Given the description of an element on the screen output the (x, y) to click on. 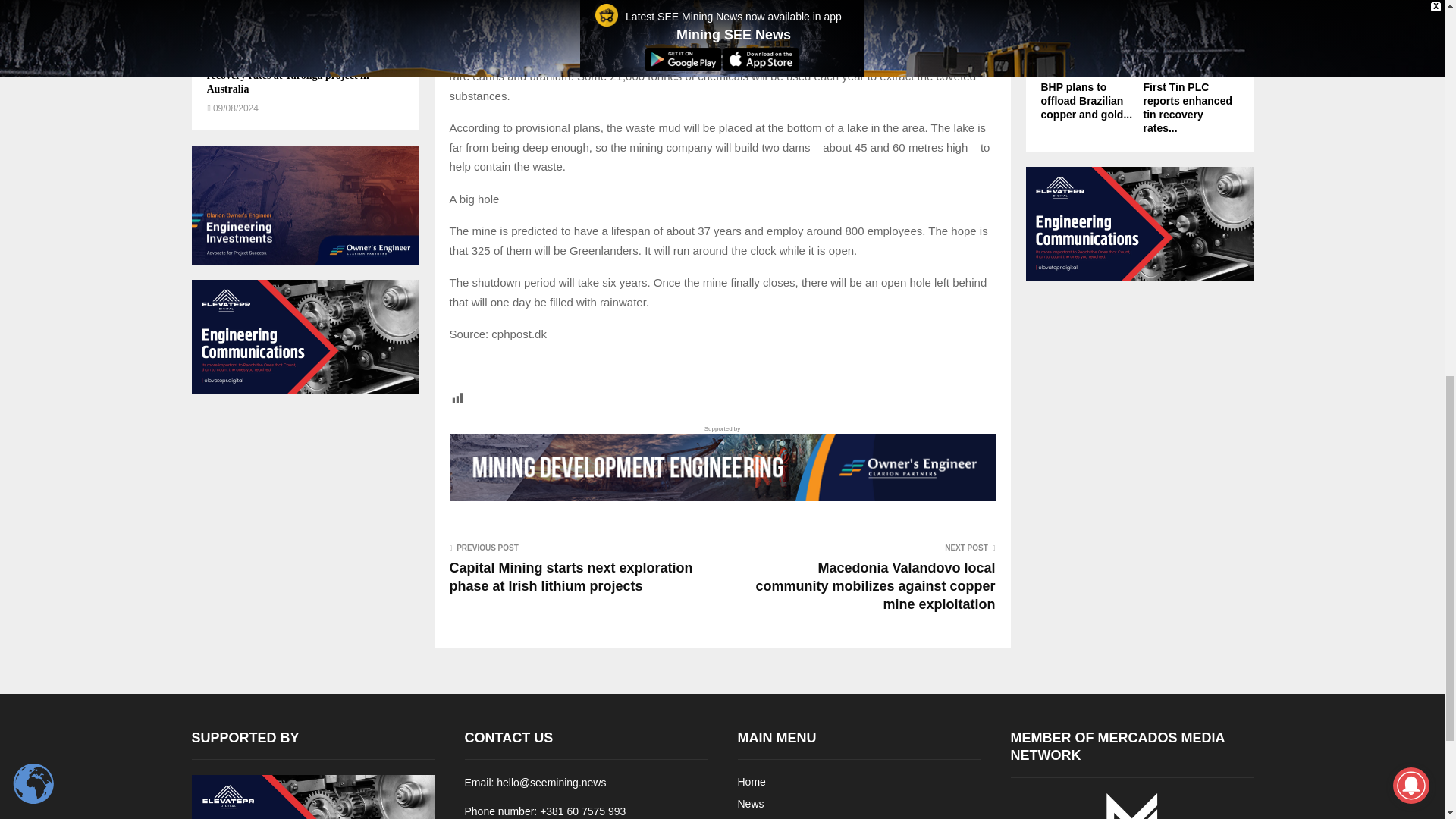
Supported by (721, 463)
